Given the description of an element on the screen output the (x, y) to click on. 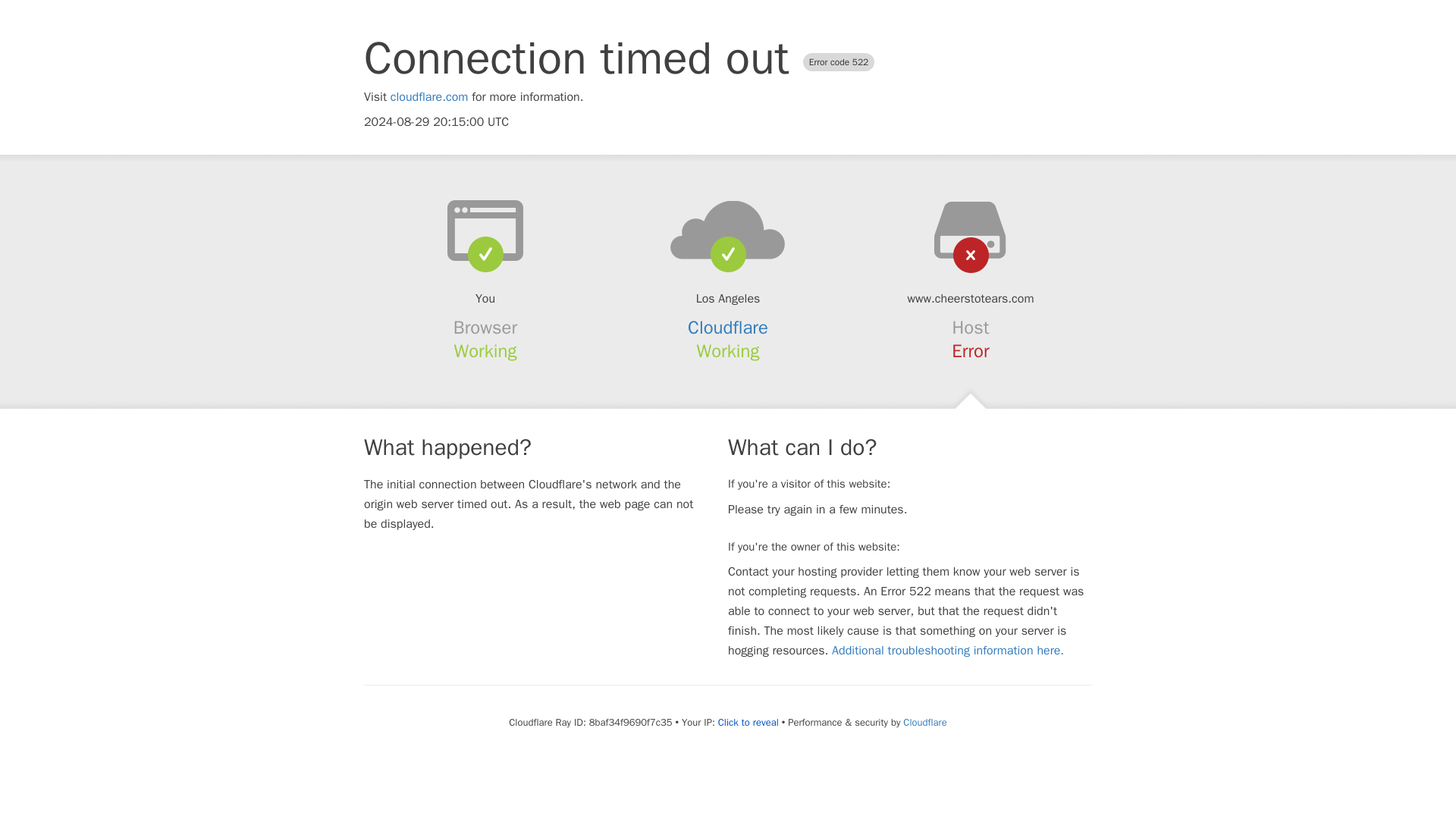
Additional troubleshooting information here. (947, 650)
Click to reveal (747, 722)
Cloudflare (924, 721)
Cloudflare (727, 327)
cloudflare.com (429, 96)
